Given the description of an element on the screen output the (x, y) to click on. 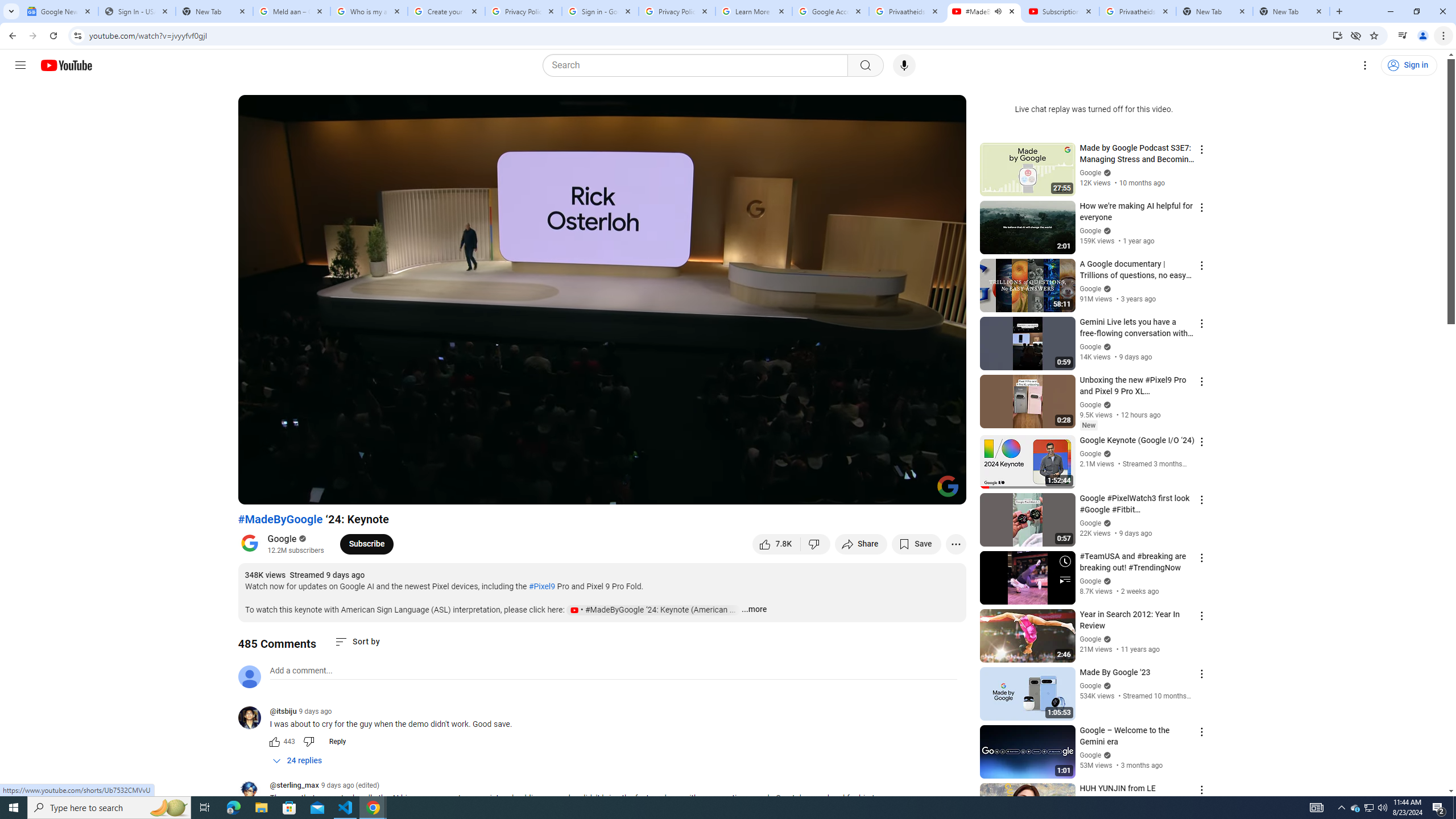
Default profile photo (248, 676)
Mute tab (997, 10)
Who is my administrator? - Google Account Help (368, 11)
Google Account (830, 11)
Sign in - Google Accounts (599, 11)
#Pixel9 (541, 586)
Full screen (f) (945, 490)
@sterling_max (253, 792)
Google News (59, 11)
#MadeByGoogle (280, 519)
